Given the description of an element on the screen output the (x, y) to click on. 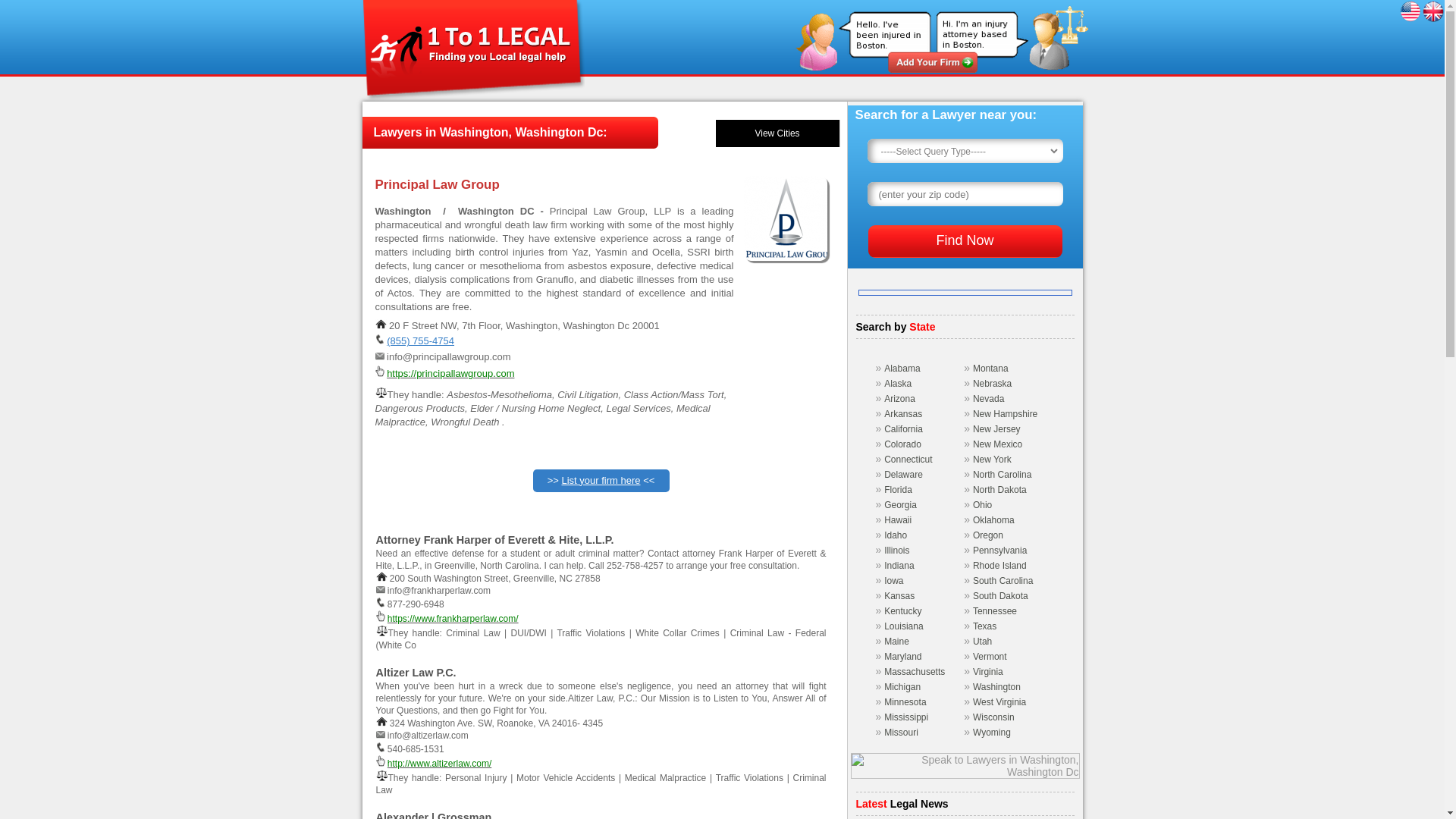
http://www.altizerlaw.com/ Element type: text (439, 763)
Washington Element type: text (996, 686)
Kentucky Element type: text (902, 610)
Minnesota Element type: text (904, 701)
Louisiana Element type: text (903, 626)
Nevada Element type: text (988, 398)
Kansas Element type: text (899, 595)
Tennessee Element type: text (994, 610)
Pennsylvania Element type: text (999, 550)
Michigan Element type: text (902, 686)
Rhode Island Element type: text (999, 565)
Texas Element type: text (984, 626)
Wisconsin Element type: text (993, 717)
Hawaii Element type: text (897, 519)
List your firm here Element type: text (600, 480)
Arizona Element type: text (899, 398)
North Dakota Element type: text (999, 489)
Idaho Element type: text (895, 535)
Wyoming Element type: text (991, 732)
New Mexico Element type: text (997, 444)
Vermont Element type: text (989, 656)
Maine Element type: text (896, 641)
https://www.frankharperlaw.com/ Element type: text (452, 618)
Colorado Element type: text (902, 444)
Alabama Element type: text (901, 368)
North Carolina Element type: text (1001, 474)
Illinois Element type: text (896, 550)
Mississippi Element type: text (906, 717)
Alaska Element type: text (897, 383)
Massachusetts Element type: text (914, 671)
Delaware Element type: text (903, 474)
Principal Law Group Element type: hover (784, 217)
Connecticut Element type: text (907, 459)
Oregon Element type: text (987, 535)
(855) 755-4754 Element type: text (420, 340)
Iowa Element type: text (893, 580)
West Virginia Element type: text (999, 701)
https://principallawgroup.com Element type: text (450, 373)
Nebraska Element type: text (991, 383)
South Carolina Element type: text (1002, 580)
Find Now Element type: text (964, 241)
Arkansas Element type: text (903, 413)
Indiana Element type: text (898, 565)
Utah Element type: text (981, 641)
Georgia Element type: text (900, 504)
Oklahoma Element type: text (993, 519)
Missouri Element type: text (901, 732)
South Dakota Element type: text (1000, 595)
Montana Element type: text (990, 368)
Florida Element type: text (898, 489)
California Element type: text (903, 428)
Maryland Element type: text (902, 656)
Virginia Element type: text (987, 671)
New Hampshire Element type: text (1004, 413)
New Jersey Element type: text (996, 428)
New York Element type: text (991, 459)
1to1 Legal Logo Element type: hover (473, 50)
Ohio Element type: text (981, 504)
